Given the description of an element on the screen output the (x, y) to click on. 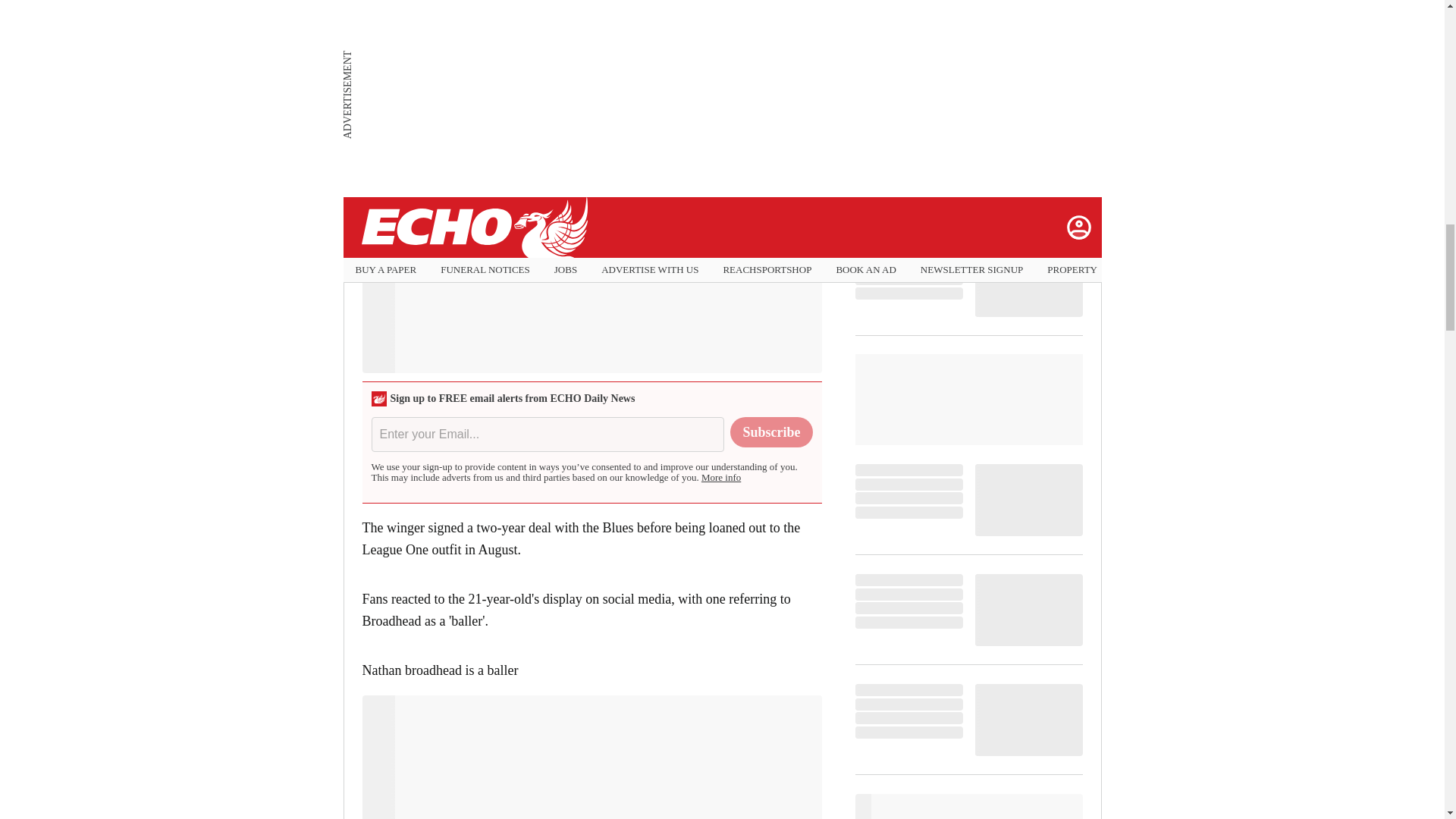
HERE (480, 55)
Subscribe (771, 431)
More info (721, 477)
